Given the description of an element on the screen output the (x, y) to click on. 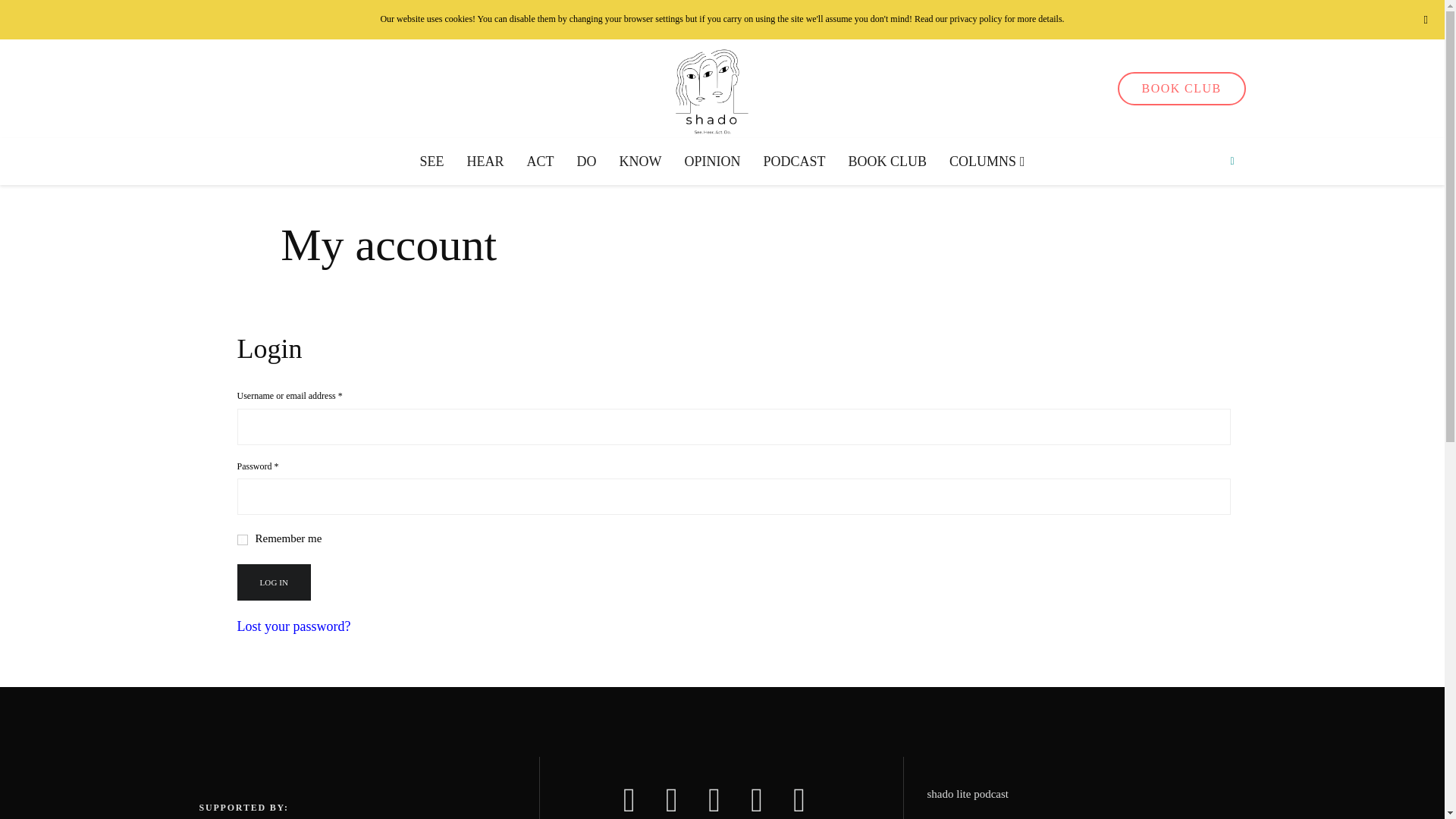
HEAR (484, 161)
SEE (430, 161)
ACT (539, 161)
BOOK CLUB (1182, 88)
